Given the description of an element on the screen output the (x, y) to click on. 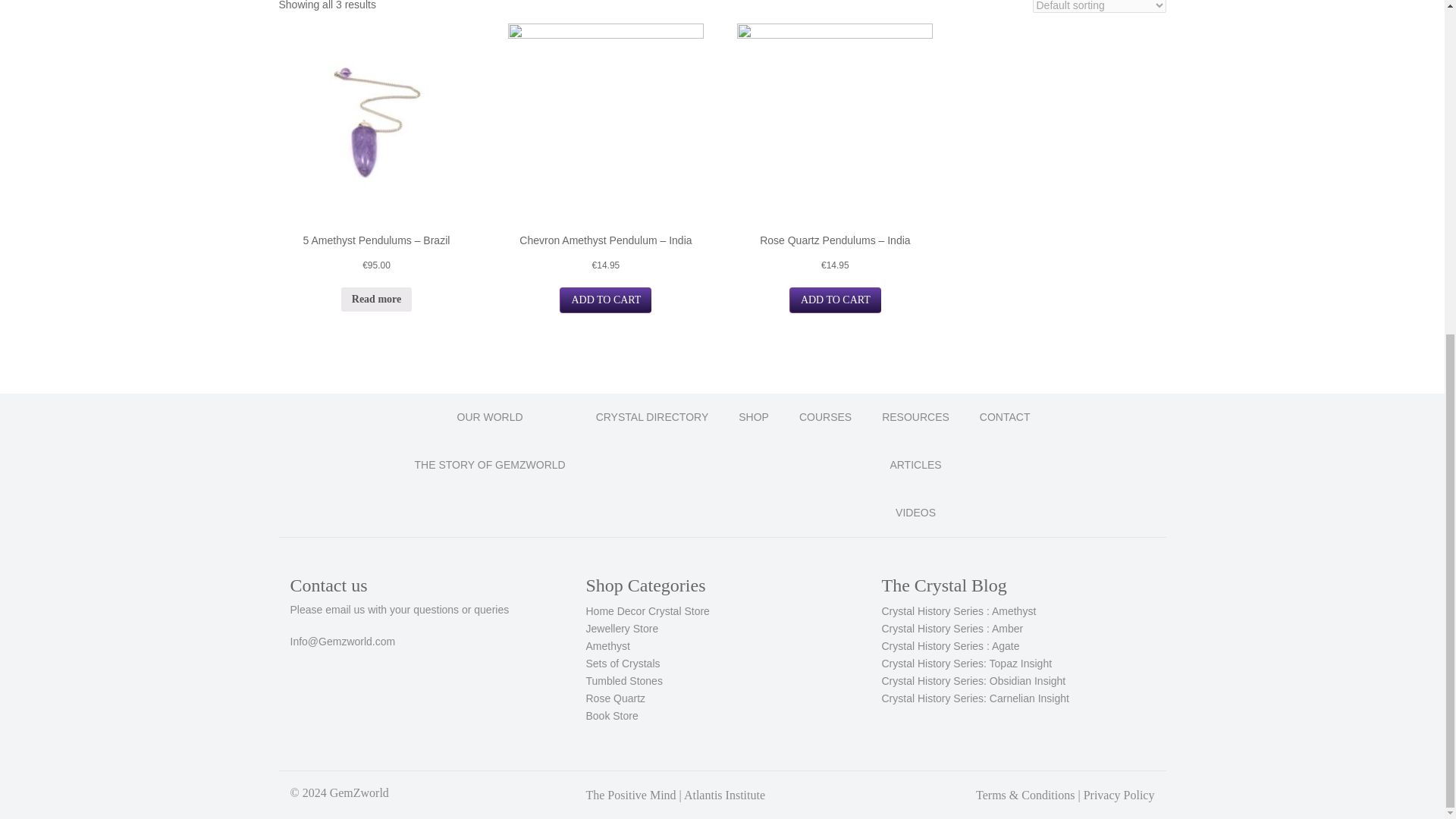
RESOURCES (914, 417)
ADD TO CART (604, 299)
ADD TO CART (834, 299)
ARTICLES (914, 464)
Read more (376, 299)
Home Decor Crystal Store (647, 611)
COURSES (825, 417)
CONTACT (1004, 417)
OUR WORLD (489, 417)
VIDEOS (914, 512)
THE STORY OF GEMZWORLD (489, 464)
SHOP (753, 417)
